Given the description of an element on the screen output the (x, y) to click on. 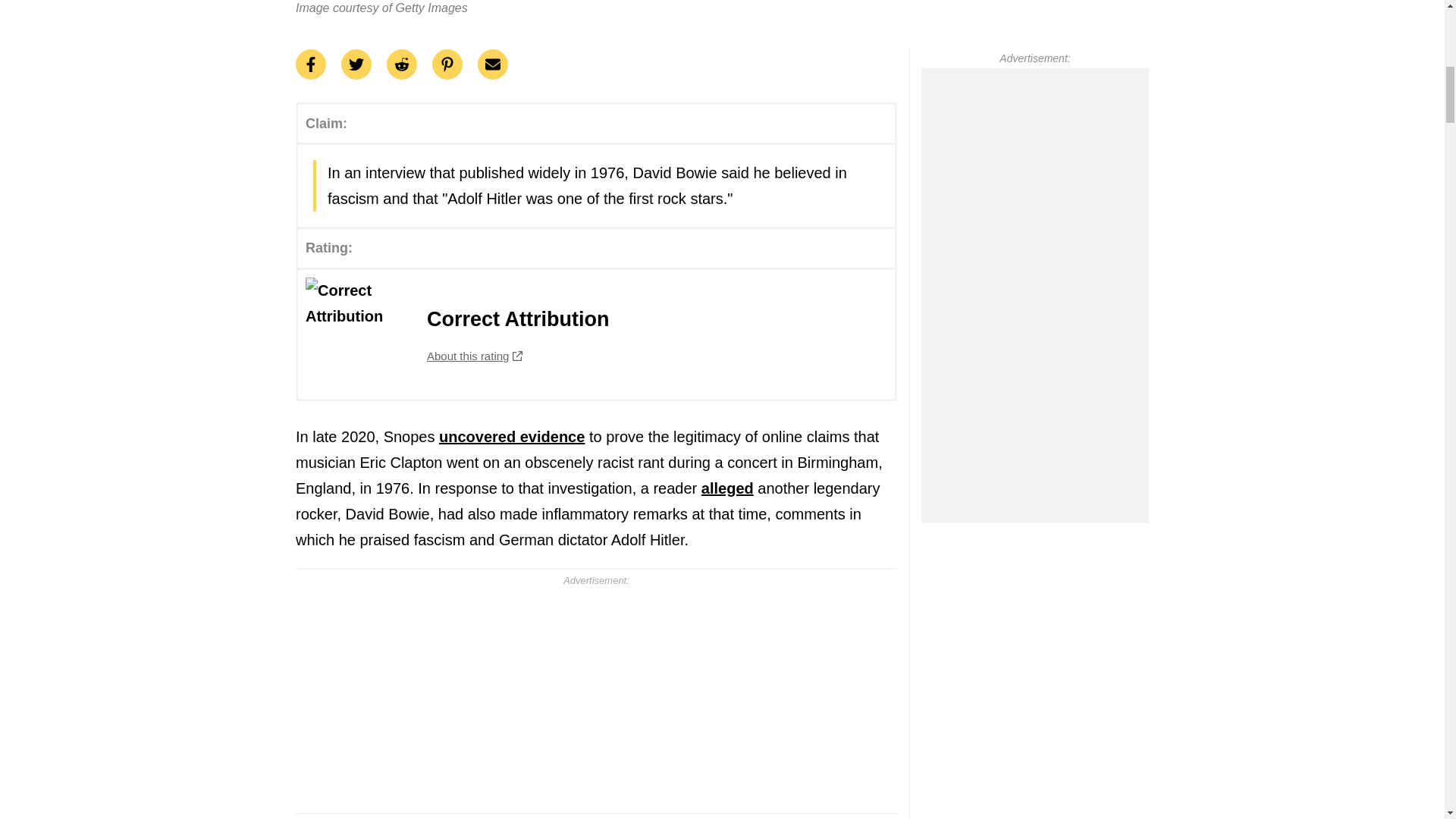
uncovered evidence (595, 334)
